Given the description of an element on the screen output the (x, y) to click on. 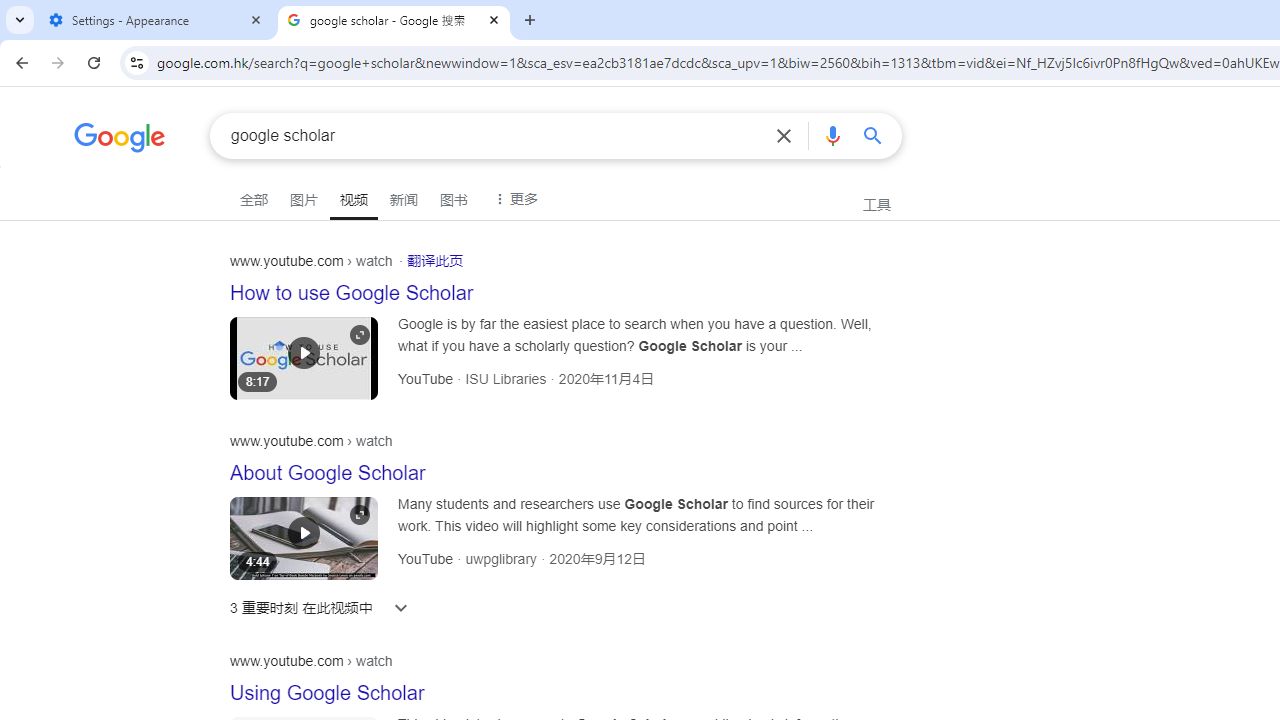
More Filters (513, 196)
